Given the description of an element on the screen output the (x, y) to click on. 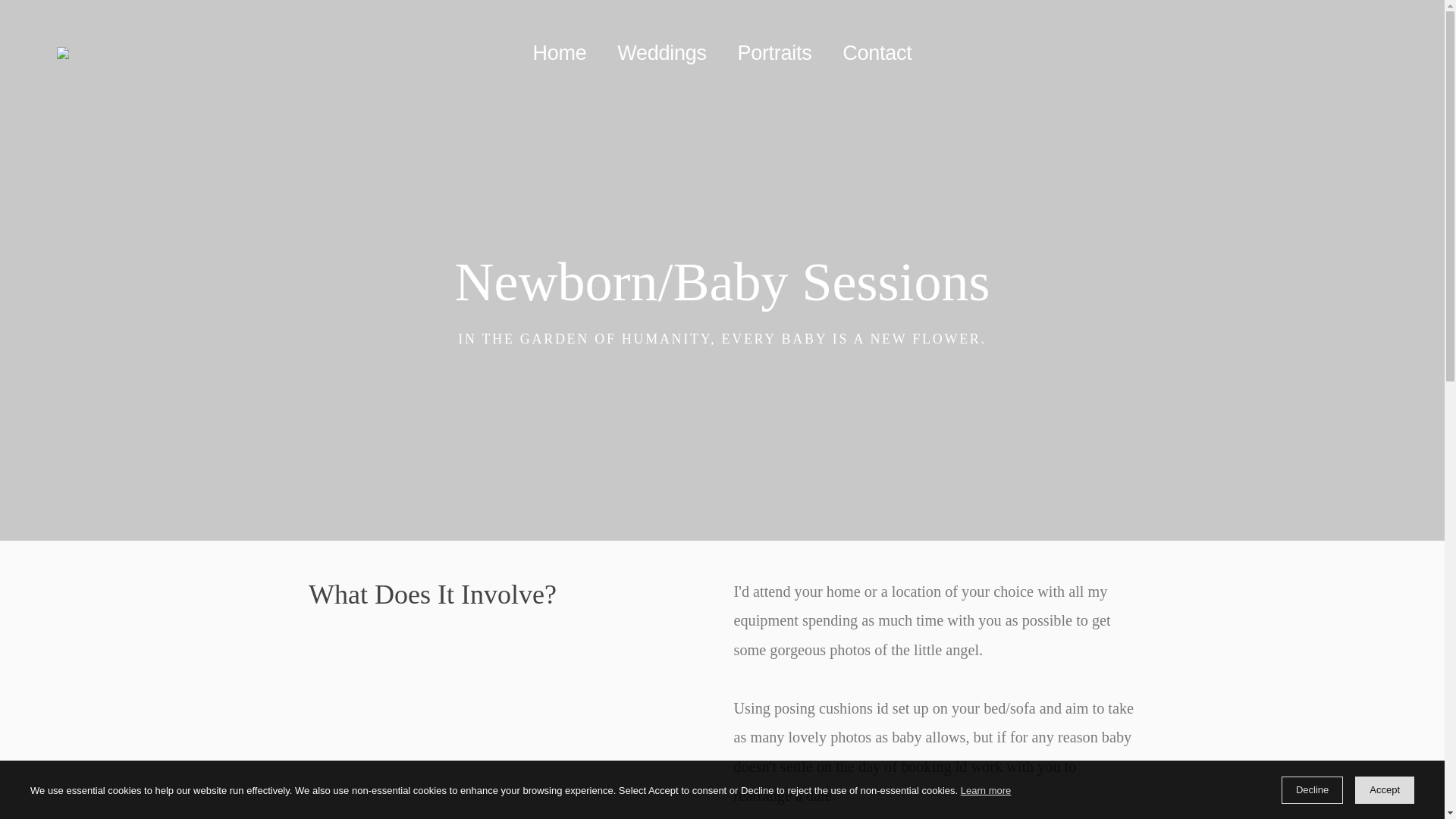
Home (559, 53)
Contact (877, 53)
Portraits (774, 53)
Weddings (661, 53)
Accept (1384, 789)
Learn more (985, 791)
Decline (1311, 789)
